Given the description of an element on the screen output the (x, y) to click on. 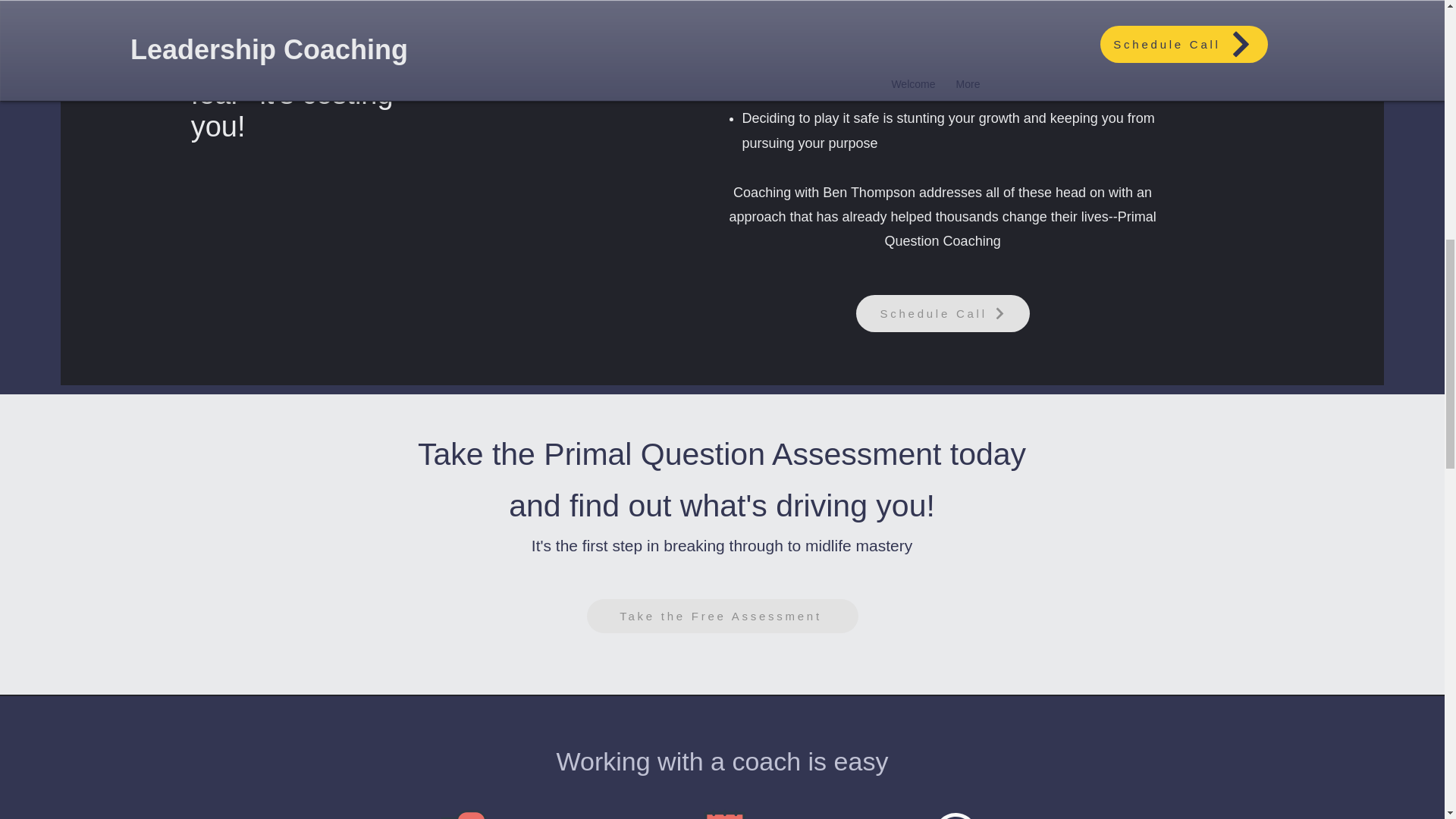
Schedule Call (942, 313)
Take the Free Assessment (722, 615)
